Given the description of an element on the screen output the (x, y) to click on. 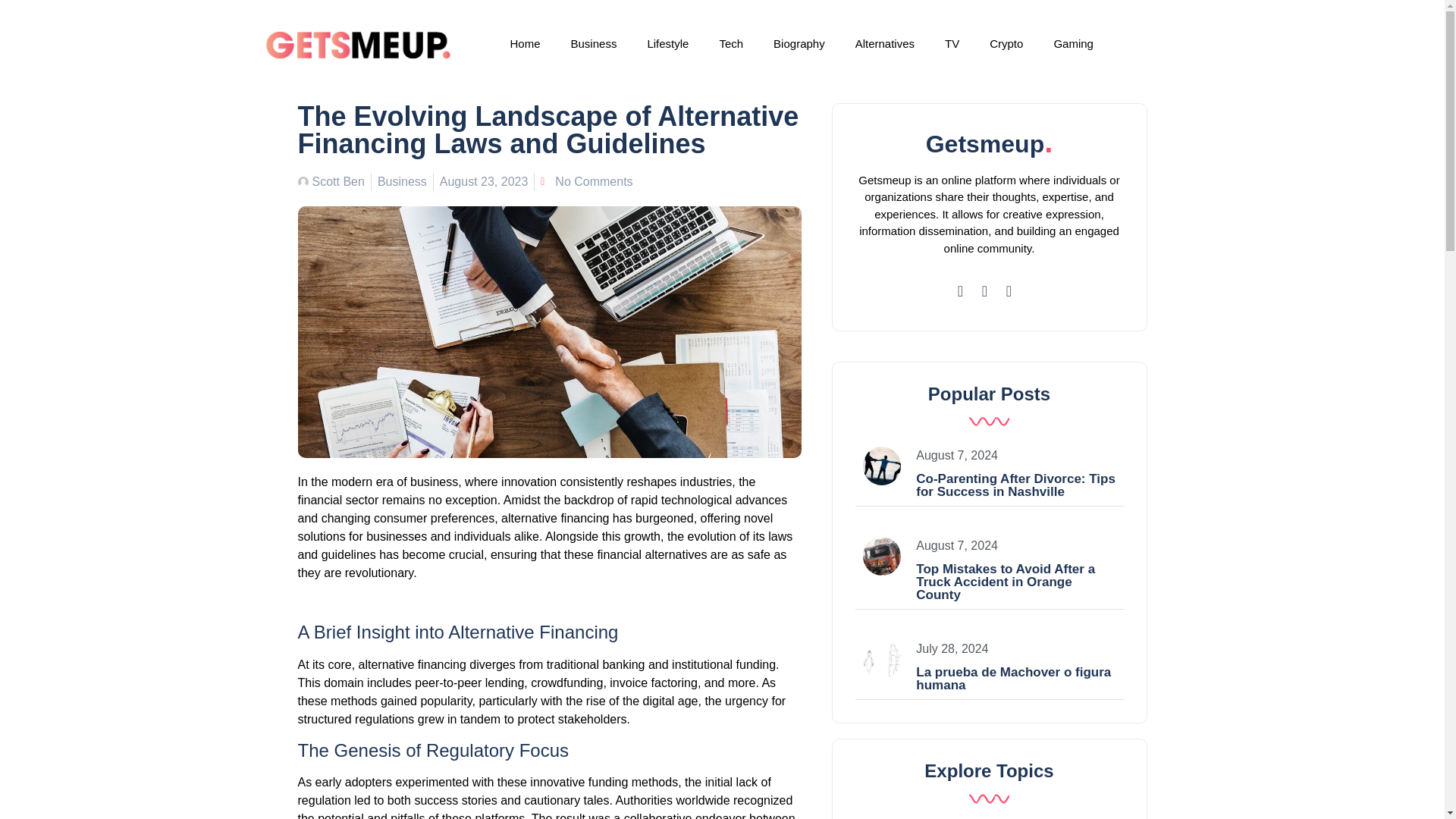
Business (401, 181)
TV (952, 43)
Crypto (1005, 43)
Biography (798, 43)
Gaming (1073, 43)
Alternatives (885, 43)
Tech (730, 43)
Business (593, 43)
La prueba de Machover o figura humana (1012, 678)
